Given the description of an element on the screen output the (x, y) to click on. 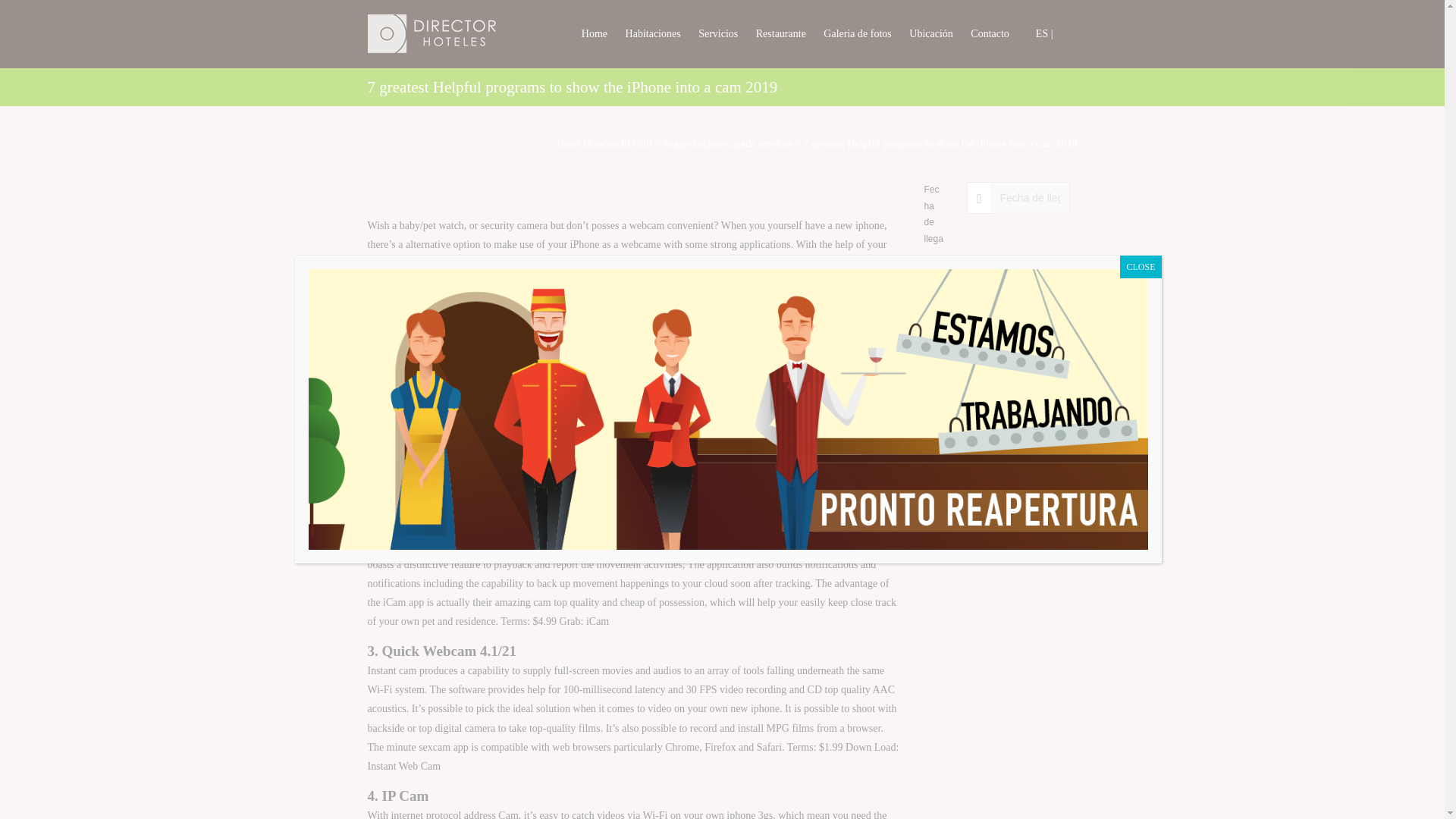
Hotel Director El Golf (418, 30)
RESERVE ONLINE (997, 359)
Galeria de fotos (857, 33)
Restaurante (780, 33)
Home (593, 33)
Servicios (718, 33)
Contacto (990, 33)
NEX-Forms (994, 400)
sugar-daddies-canada services (728, 143)
Hotel Director El Golf (604, 143)
Habitaciones (653, 33)
Ir a Hotel Director El Golf. (604, 143)
